Given the description of an element on the screen output the (x, y) to click on. 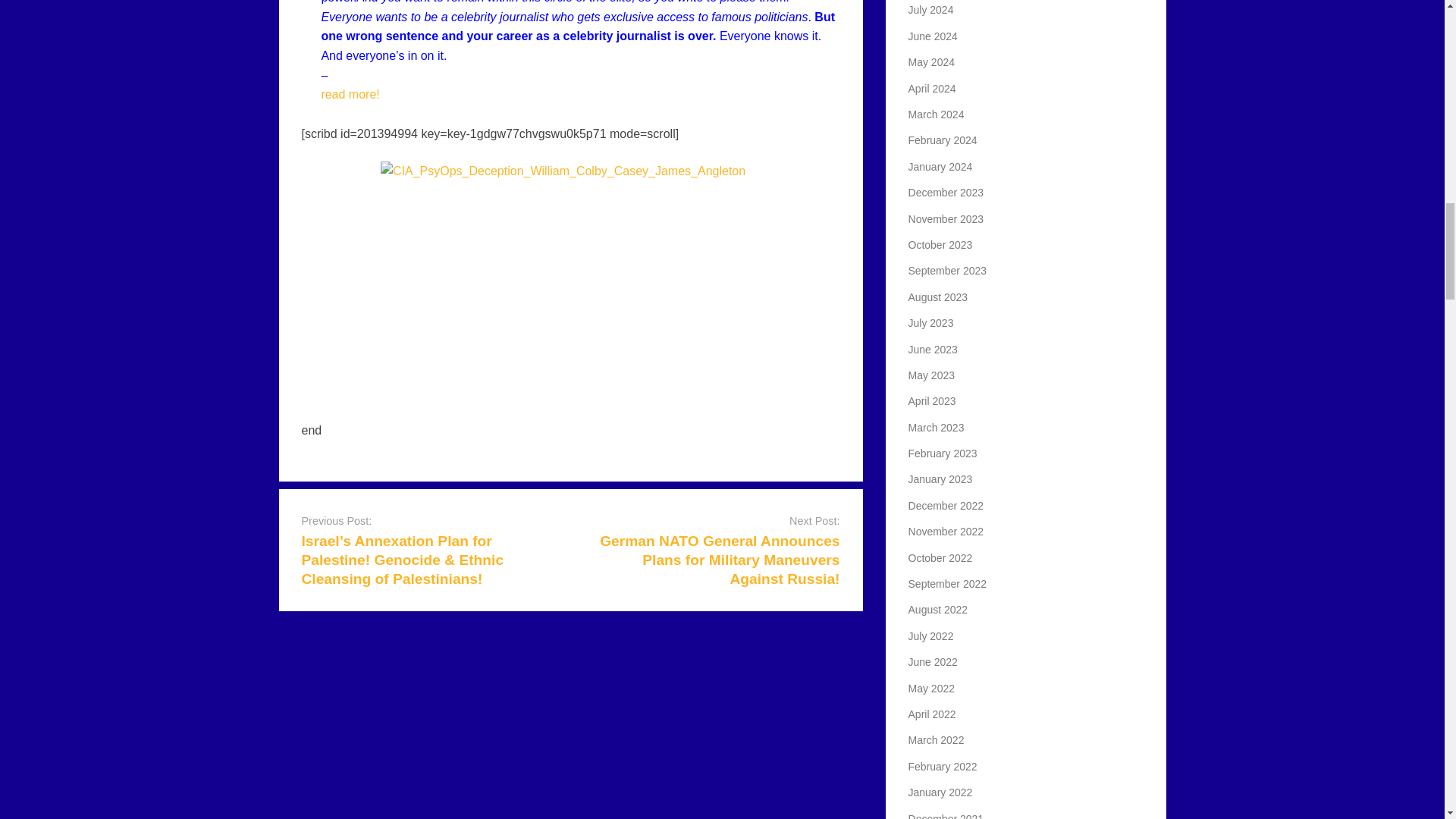
July 2024 (930, 9)
read more! (349, 93)
